Given the description of an element on the screen output the (x, y) to click on. 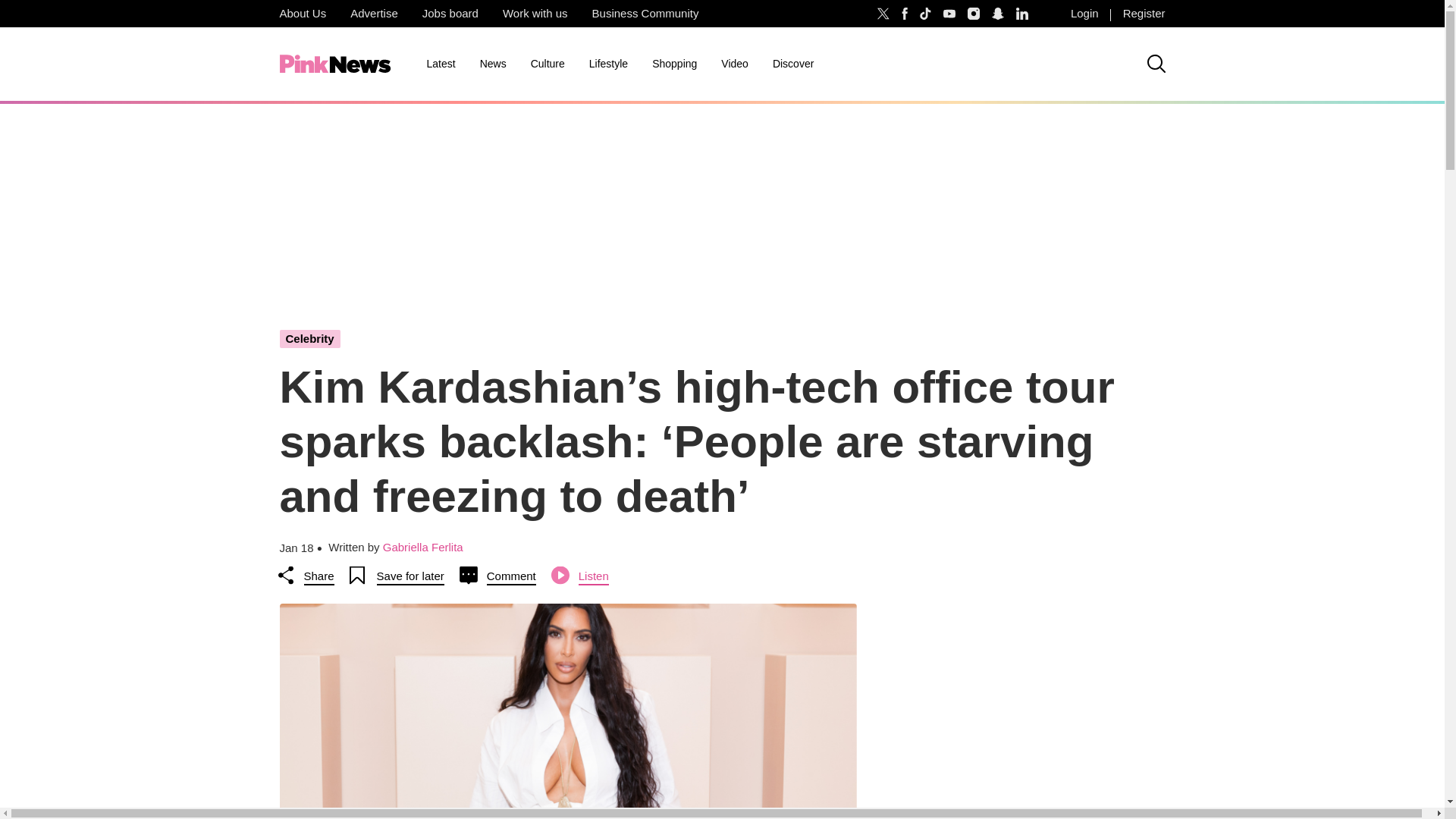
News (493, 63)
Register (1143, 13)
Jobs board (450, 13)
Login (1084, 13)
Advertise (373, 13)
About Us (301, 13)
Follow PinkNews on LinkedIn (1021, 13)
Business Community (645, 13)
Culture (547, 63)
Lifestyle (608, 63)
